Given the description of an element on the screen output the (x, y) to click on. 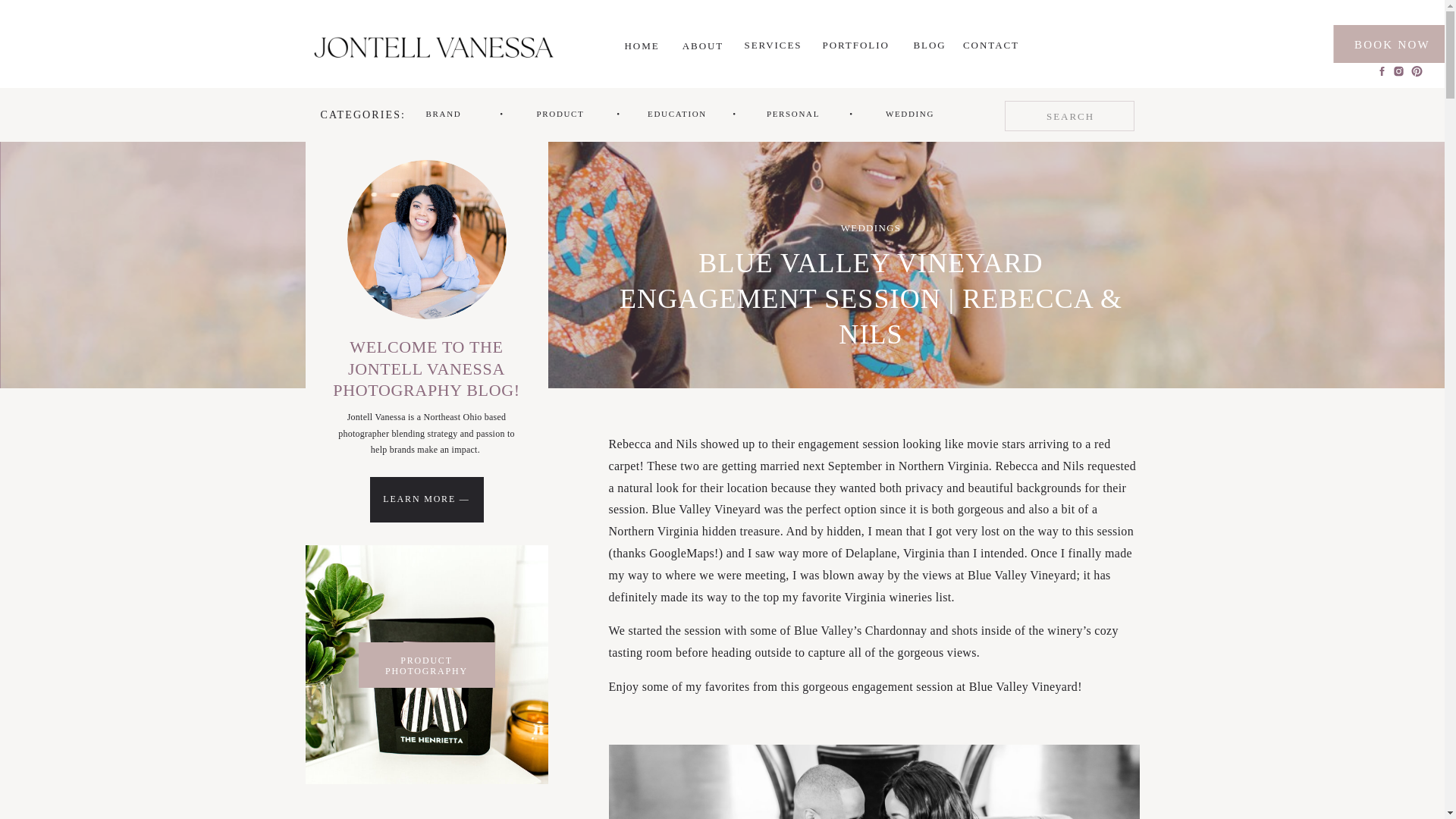
WEDDINGS (871, 227)
HOME (642, 46)
BLOG (929, 45)
PERSONAL (793, 114)
PRODUCT PHOTOGRAPHY (426, 660)
BOOK NOW (1391, 43)
CONTACT (991, 45)
EDUCATION (677, 114)
SERVICES (772, 45)
BRAND (443, 114)
